Given the description of an element on the screen output the (x, y) to click on. 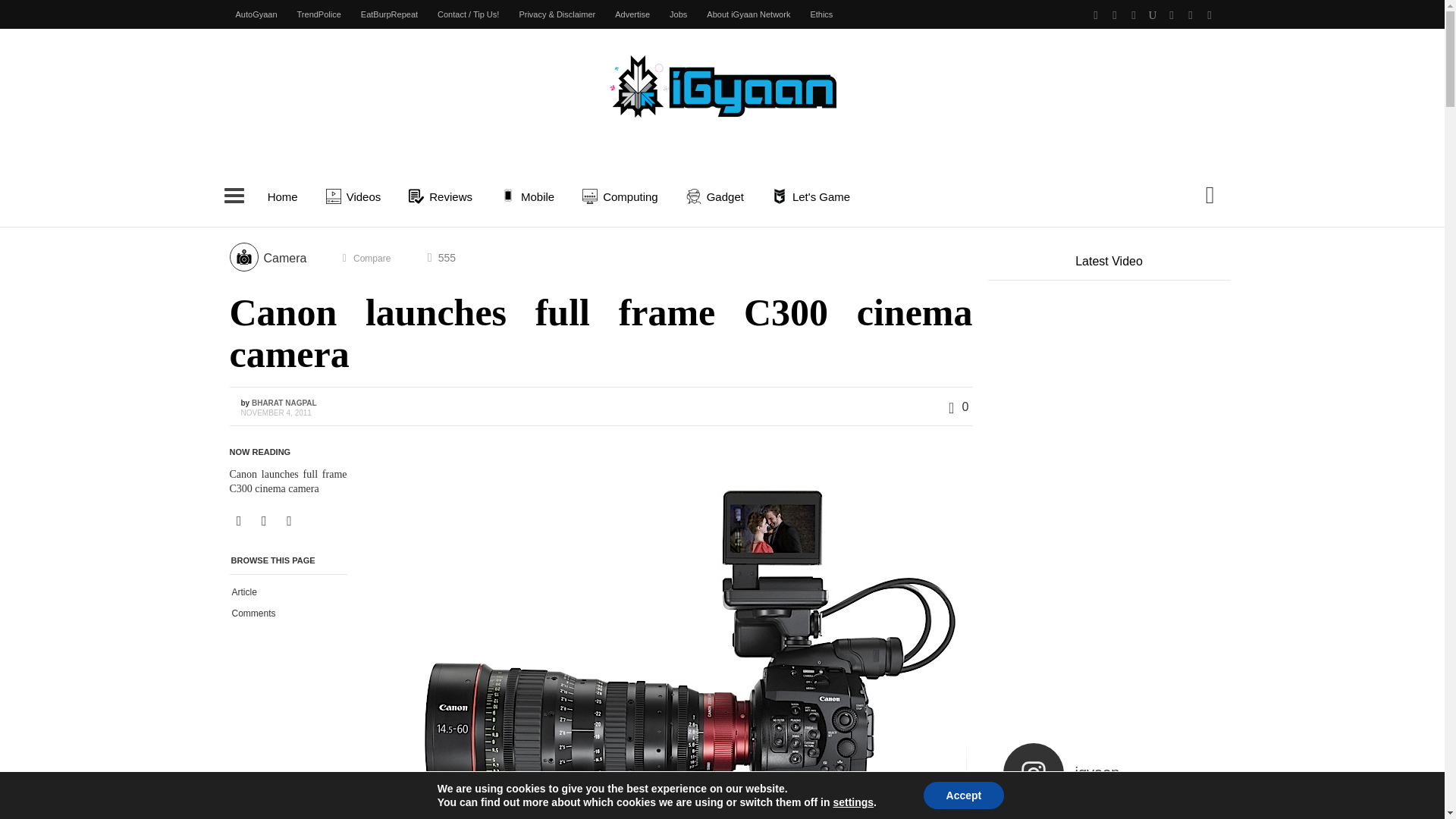
Videos (355, 196)
Jobs (678, 14)
Ethics (821, 14)
About iGyaan Network (748, 14)
TrendPolice (318, 14)
EatBurpRepeat (389, 14)
Advertise (632, 14)
AutoGyaan (255, 14)
Home (282, 196)
